Given the description of an element on the screen output the (x, y) to click on. 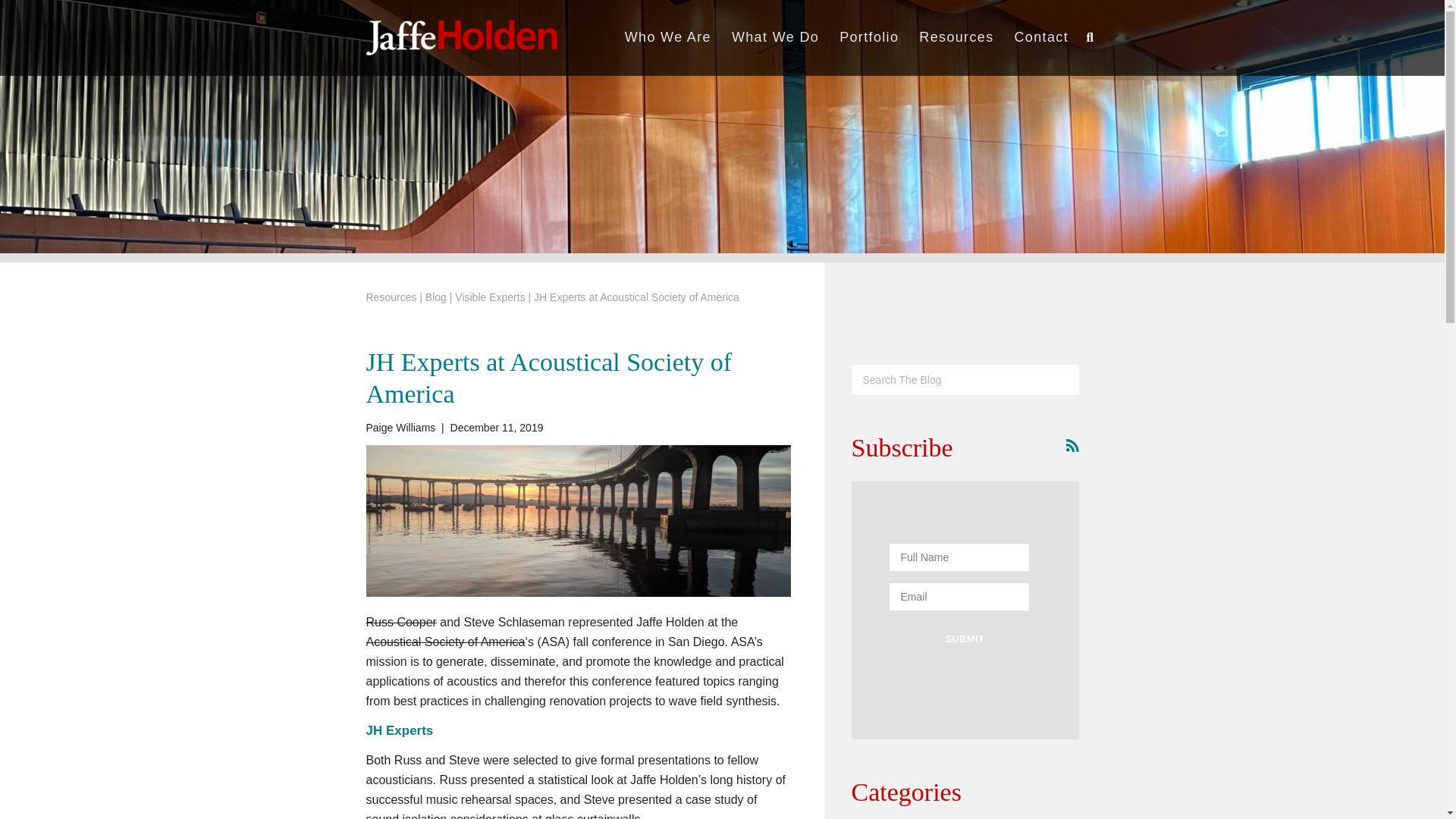
Go to the Visible Experts category archives. (489, 297)
Acoustical Society of America (444, 641)
Visible Experts (489, 297)
Resources (956, 38)
Blog (435, 297)
Go to Blog. (435, 297)
Contact (1041, 38)
Posts by Paige Williams (400, 427)
Submit (964, 639)
Paige Williams (400, 427)
Portfolio (868, 38)
Resources (390, 297)
Russ Cooper (400, 621)
Go to Resources. (390, 297)
Submit (964, 639)
